Given the description of an element on the screen output the (x, y) to click on. 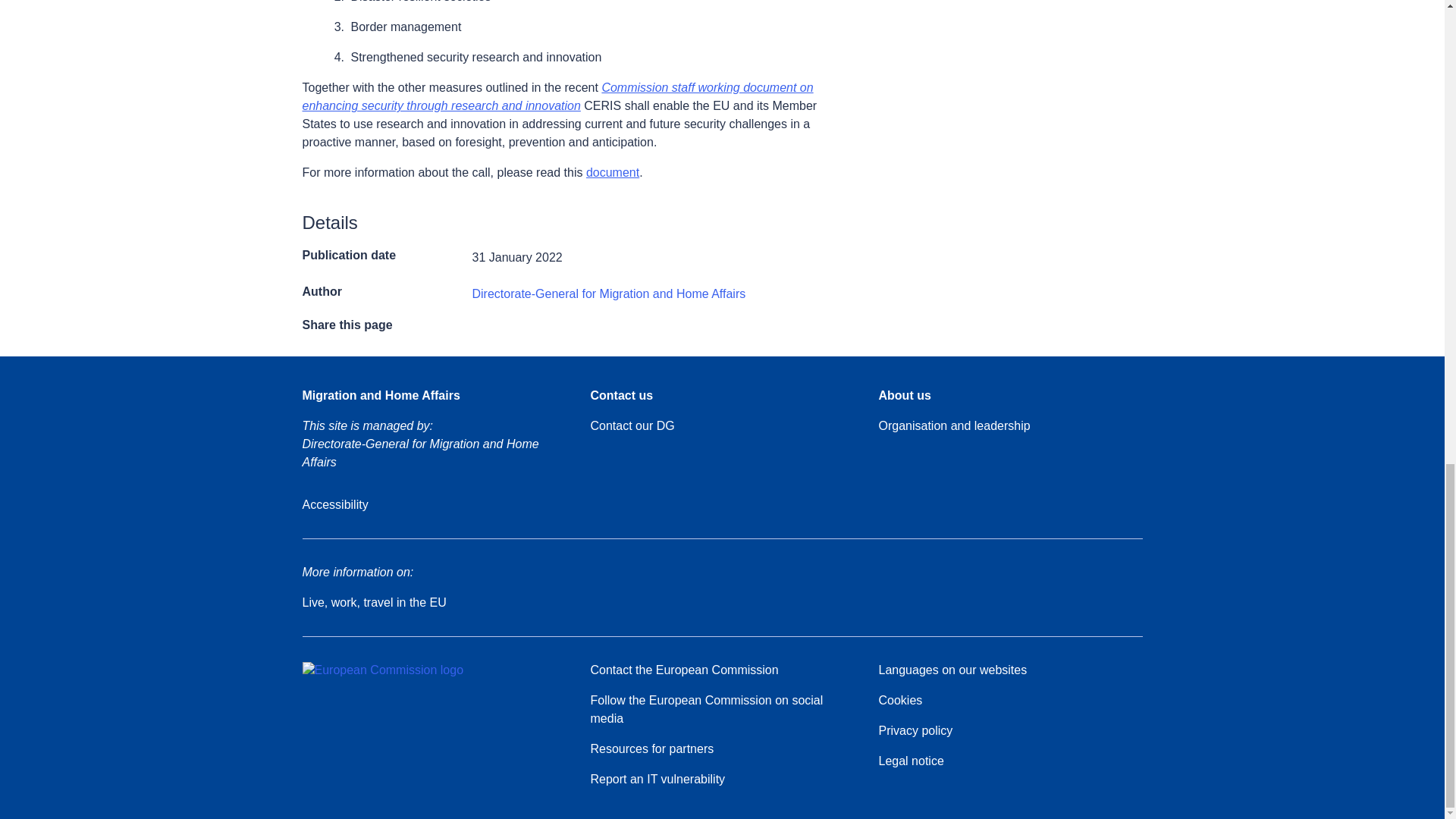
European Commission (382, 669)
